Given the description of an element on the screen output the (x, y) to click on. 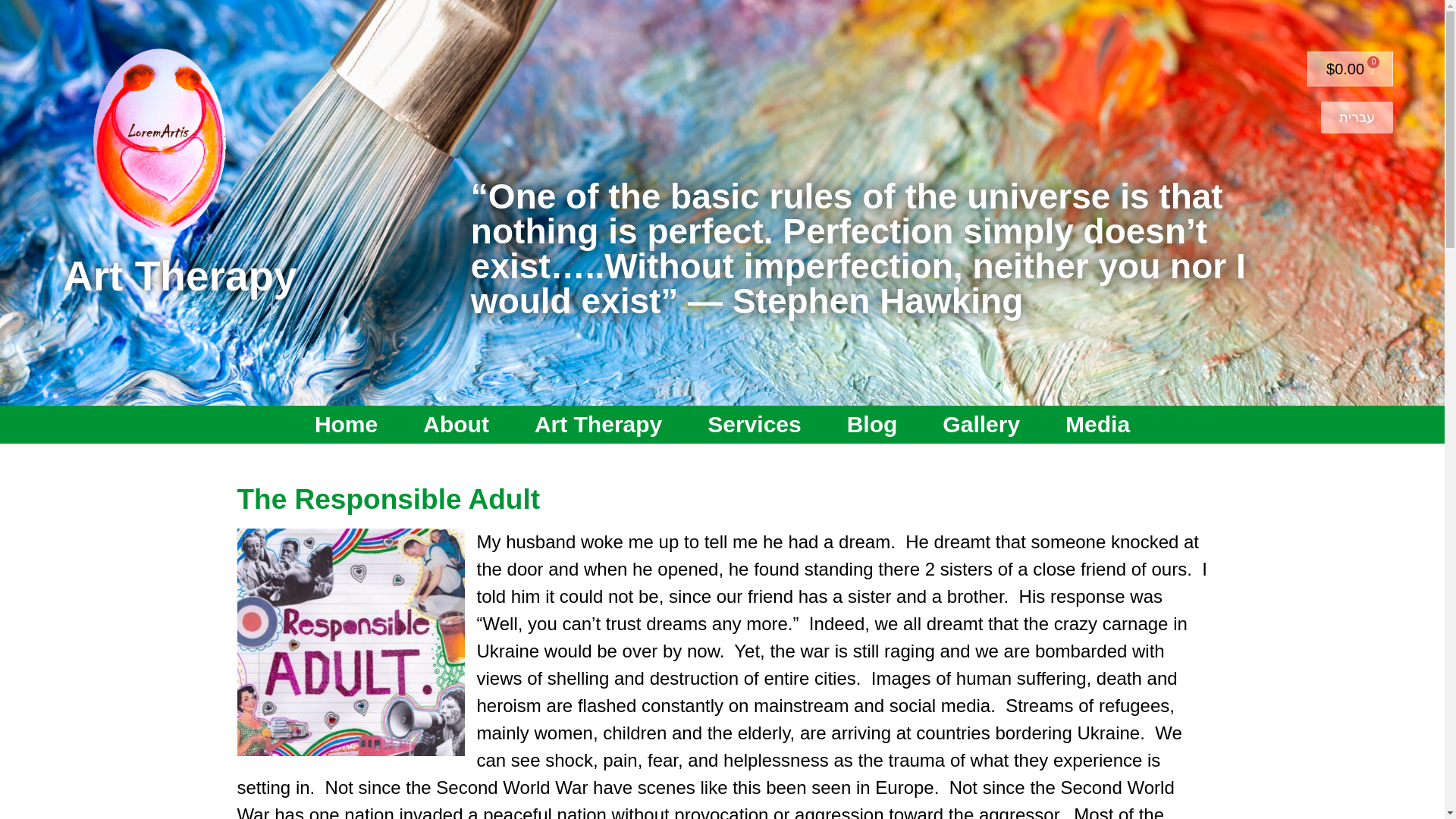
Media (1097, 424)
Services (754, 424)
Home (346, 424)
Art Therapy (598, 424)
About (456, 424)
Blog (872, 424)
Gallery (981, 424)
